Given the description of an element on the screen output the (x, y) to click on. 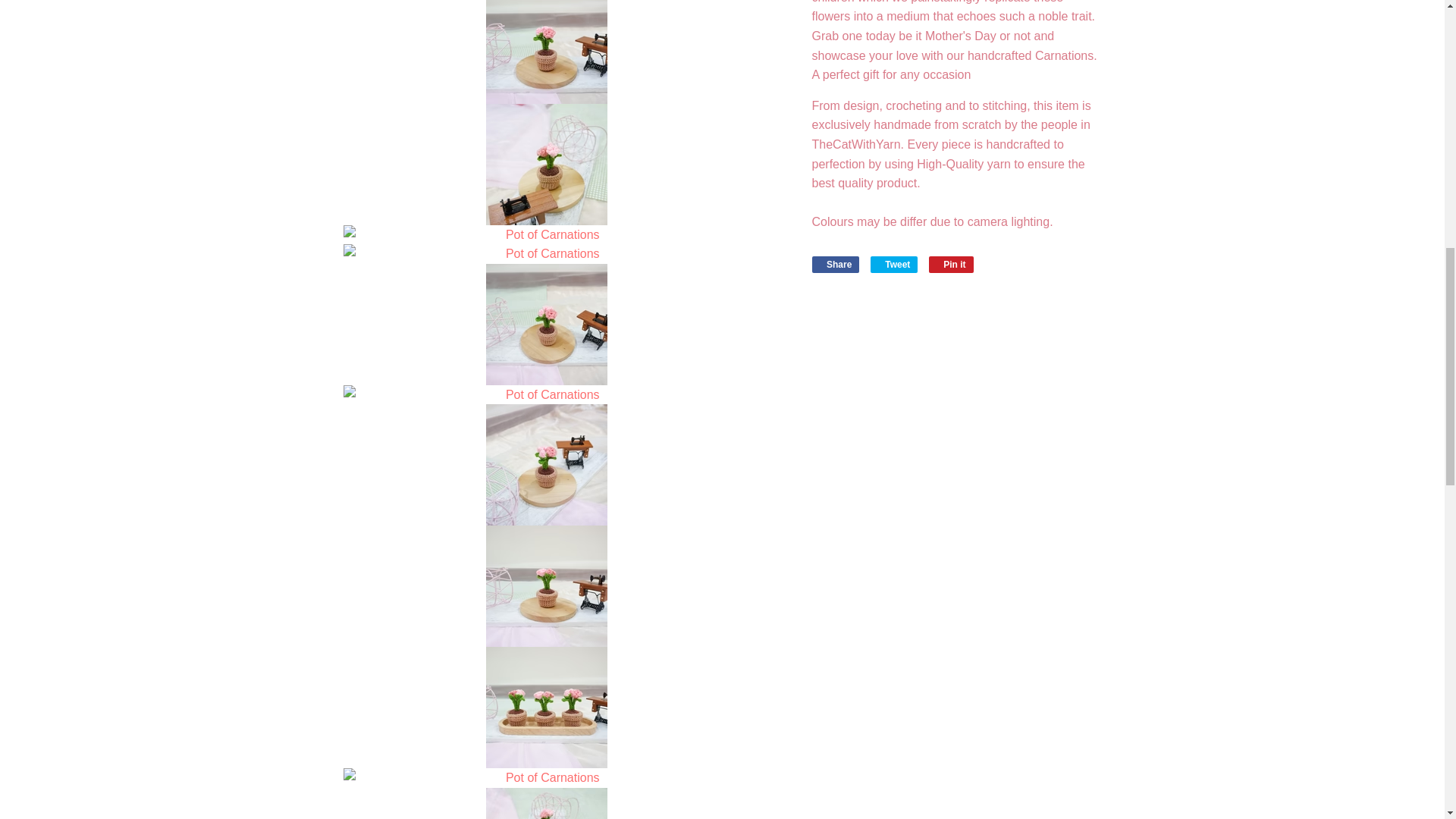
Share on Facebook (834, 264)
Pin on Pinterest (951, 264)
Tweet on Twitter (894, 264)
